Given the description of an element on the screen output the (x, y) to click on. 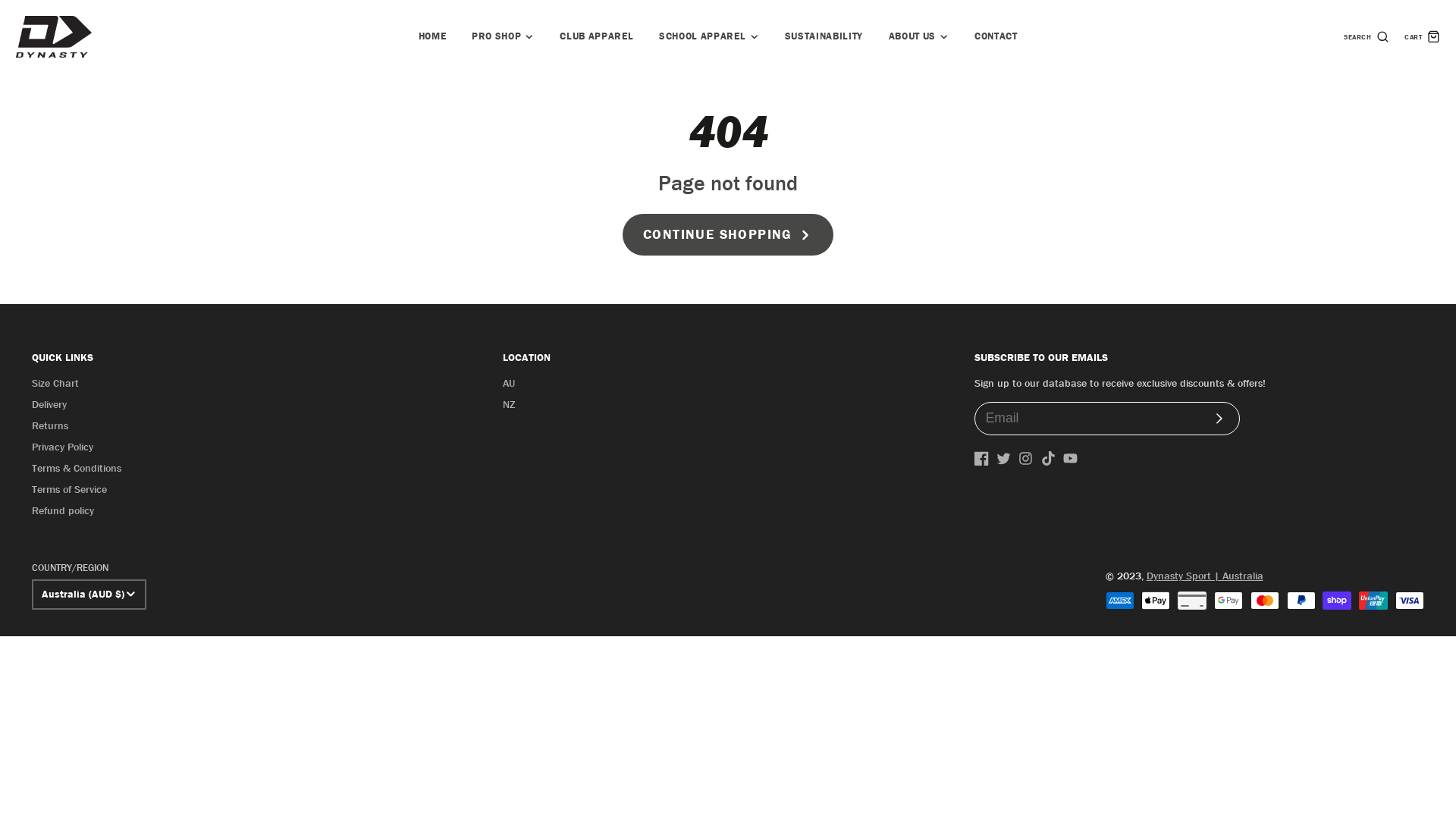
Terms of Service Element type: text (68, 489)
Size Chart Element type: text (54, 383)
Instagram Element type: text (1025, 458)
CART Element type: text (1422, 36)
AU Element type: text (508, 383)
ABOUT US Element type: text (918, 36)
Twitter Element type: text (1003, 458)
Returns Element type: text (49, 425)
Australia (AUD $) Element type: text (88, 594)
SCHOOL APPAREL Element type: text (708, 36)
SEARCH Element type: text (1366, 36)
Refund policy Element type: text (62, 510)
CONTACT Element type: text (995, 36)
HOME Element type: text (431, 36)
Delivery Element type: text (48, 404)
CLUB APPAREL Element type: text (596, 36)
Subscribe Element type: text (1219, 418)
PRO SHOP Element type: text (502, 36)
Terms & Conditions Element type: text (76, 468)
Dynasty Sport | Australia Element type: text (1204, 575)
YouTube Element type: text (1070, 458)
SUSTAINABILITY Element type: text (823, 36)
CONTINUE SHOPPING Element type: text (727, 234)
Facebook Element type: text (981, 458)
Privacy Policy Element type: text (62, 446)
NZ Element type: text (508, 404)
TikTok Element type: text (1048, 458)
